Given the description of an element on the screen output the (x, y) to click on. 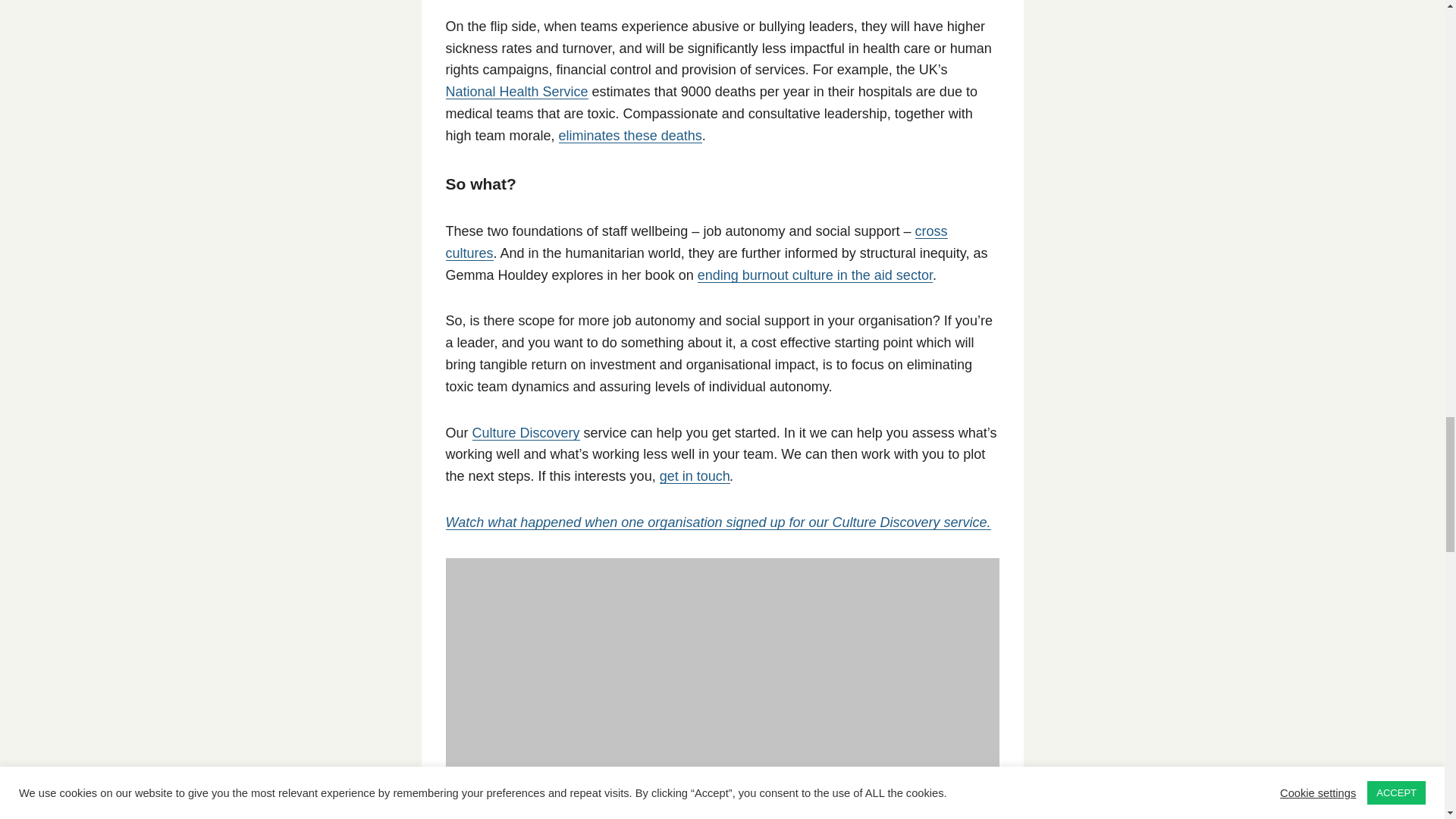
cross cultures (696, 242)
eliminates these deaths (630, 135)
Culture Discovery (525, 432)
get in touch (694, 476)
National Health Service (516, 91)
ending burnout culture in the aid sector (815, 274)
